Given the description of an element on the screen output the (x, y) to click on. 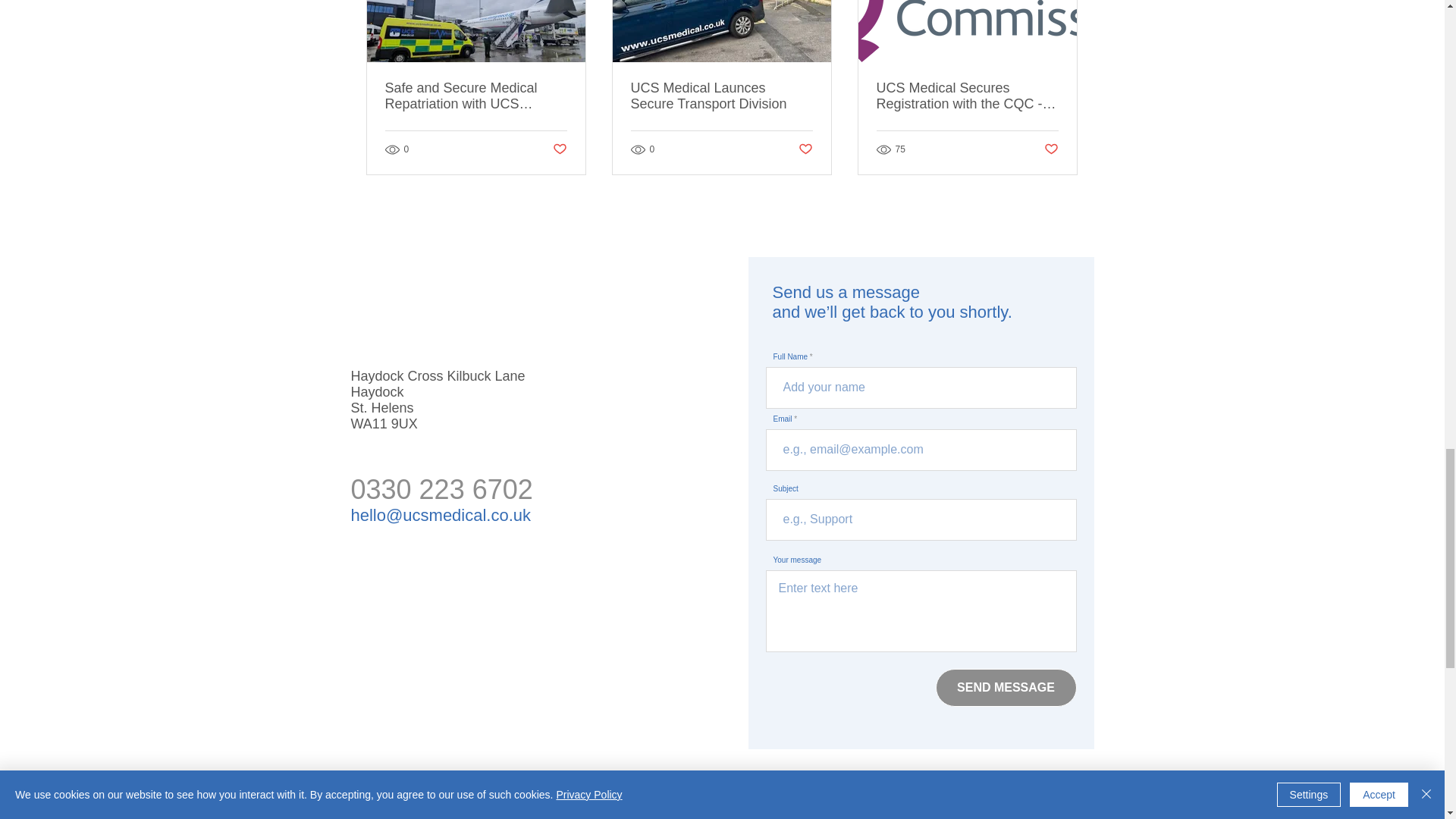
Post not marked as liked (558, 149)
St Helens Chamber (508, 800)
Safe and Secure Medical Repatriation with UCS Medical (476, 96)
Qualsafe Reg Centre logo (404, 802)
